Given the description of an element on the screen output the (x, y) to click on. 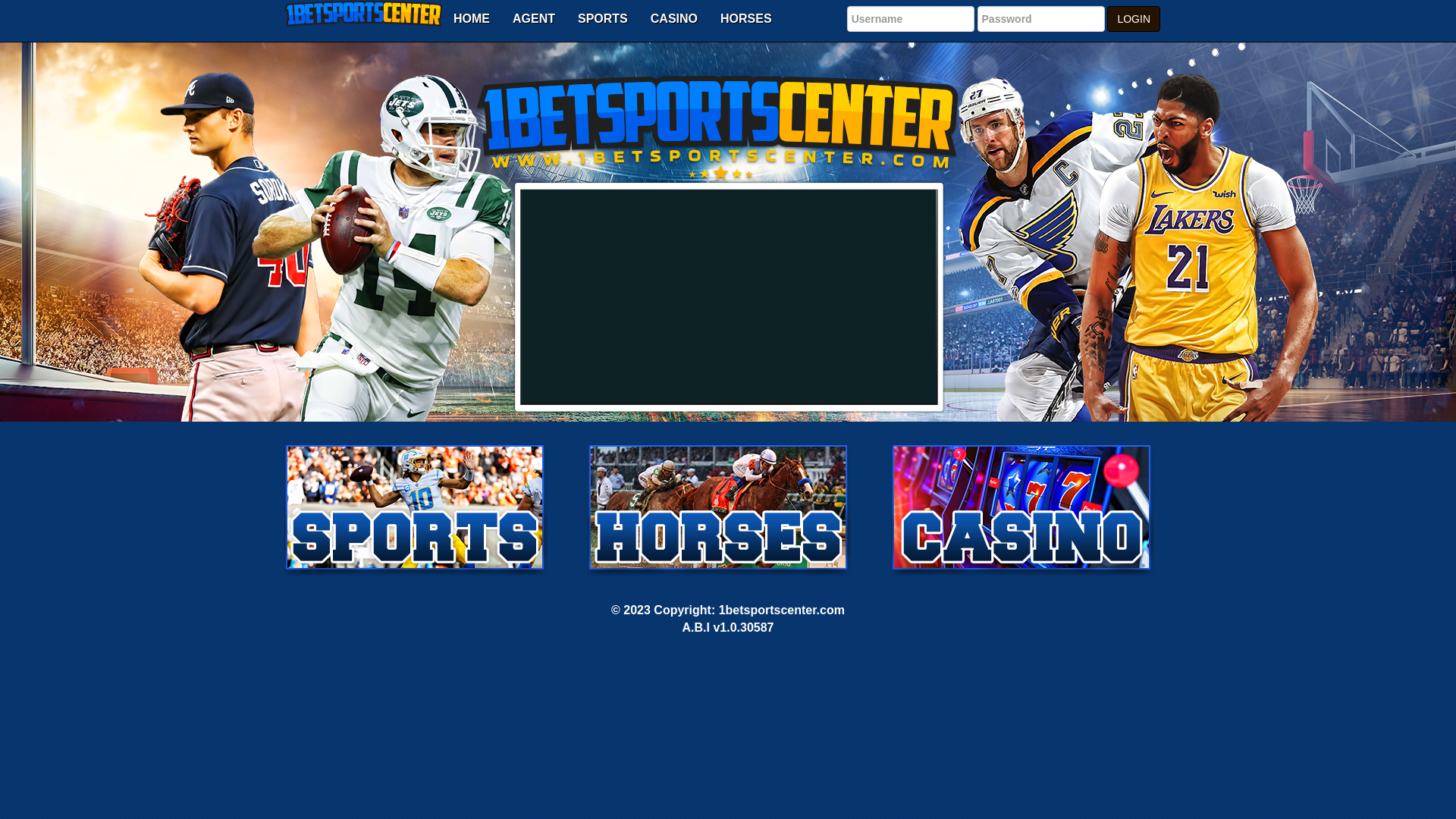
CASINO Element type: text (674, 18)
SPORTS Element type: text (602, 18)
HORSES Element type: text (746, 18)
AGENT Element type: text (533, 18)
LOGIN Element type: text (1133, 18)
HOME Element type: text (471, 18)
